Given the description of an element on the screen output the (x, y) to click on. 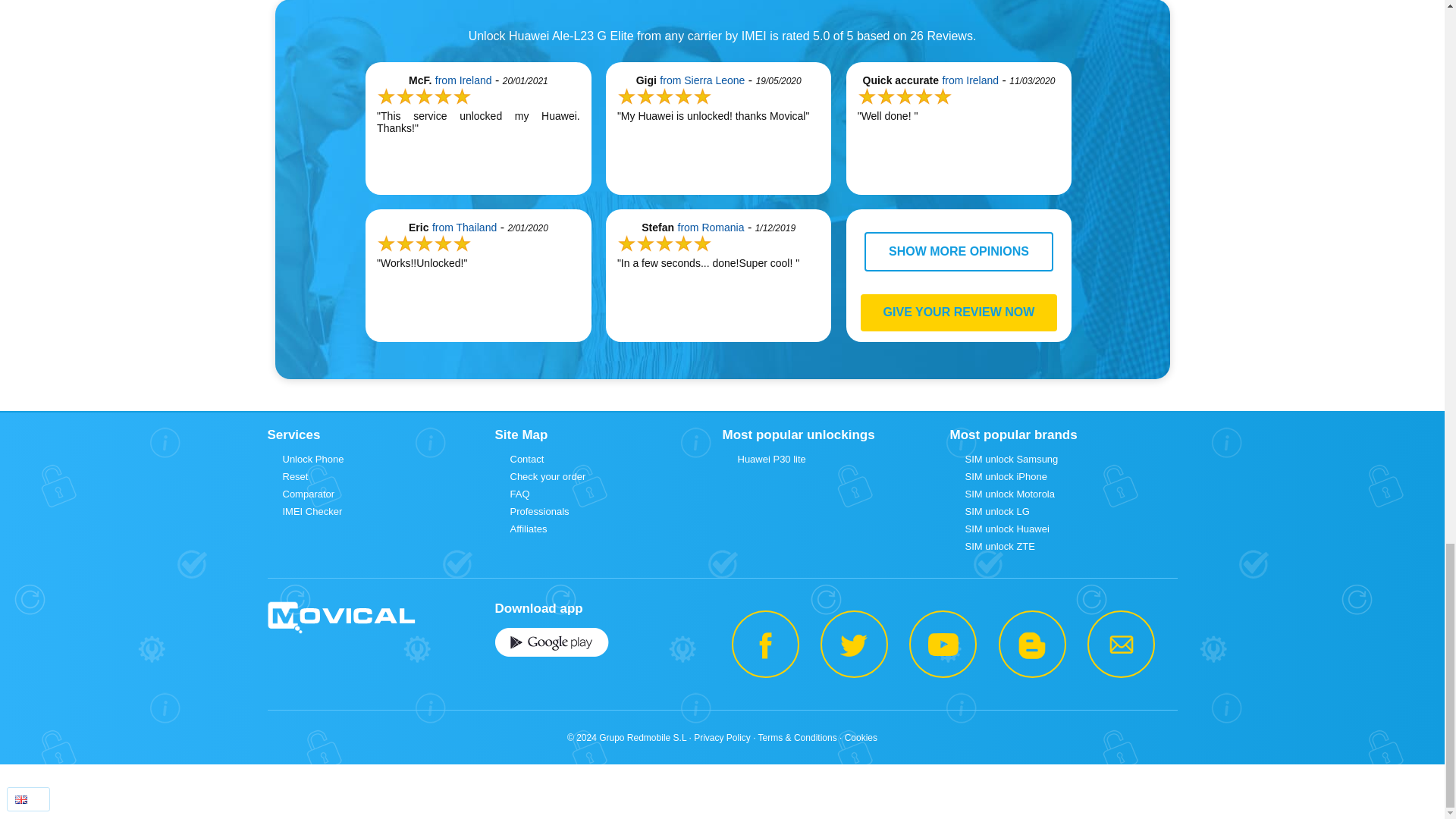
Movical.Net (340, 618)
